Given the description of an element on the screen output the (x, y) to click on. 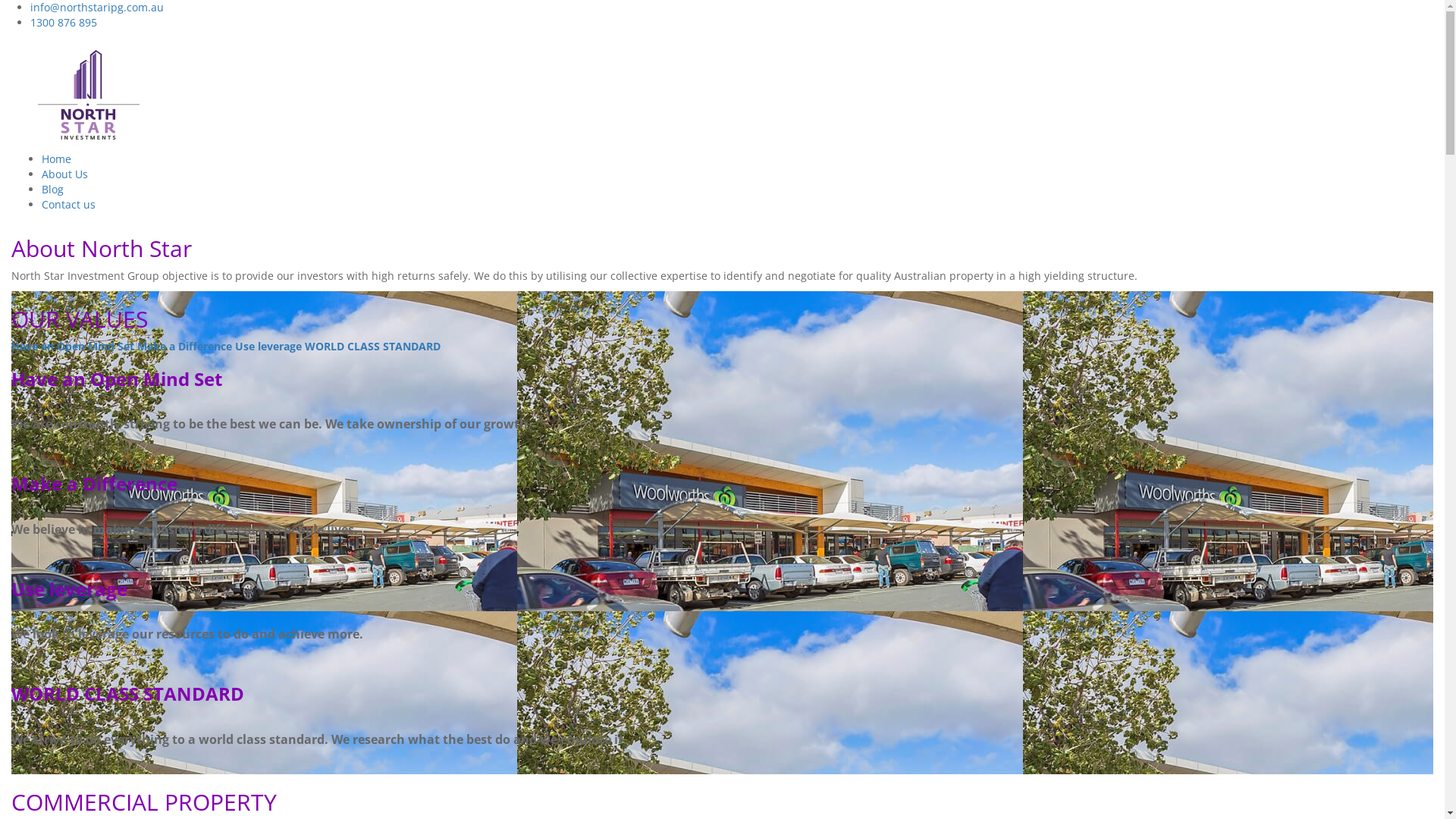
Home Element type: text (56, 158)
Make a Difference Element type: text (184, 345)
Blog Element type: text (52, 189)
info@northstaripg.com.au Element type: text (96, 7)
WORLD CLASS STANDARD Element type: text (372, 345)
About Us Element type: text (64, 173)
Contact us Element type: text (68, 204)
Dream Land Element type: hover (88, 94)
Have an Open Mind Set Element type: text (72, 345)
1300 876 895 Element type: text (63, 22)
Use leverage Element type: text (268, 345)
